Given the description of an element on the screen output the (x, y) to click on. 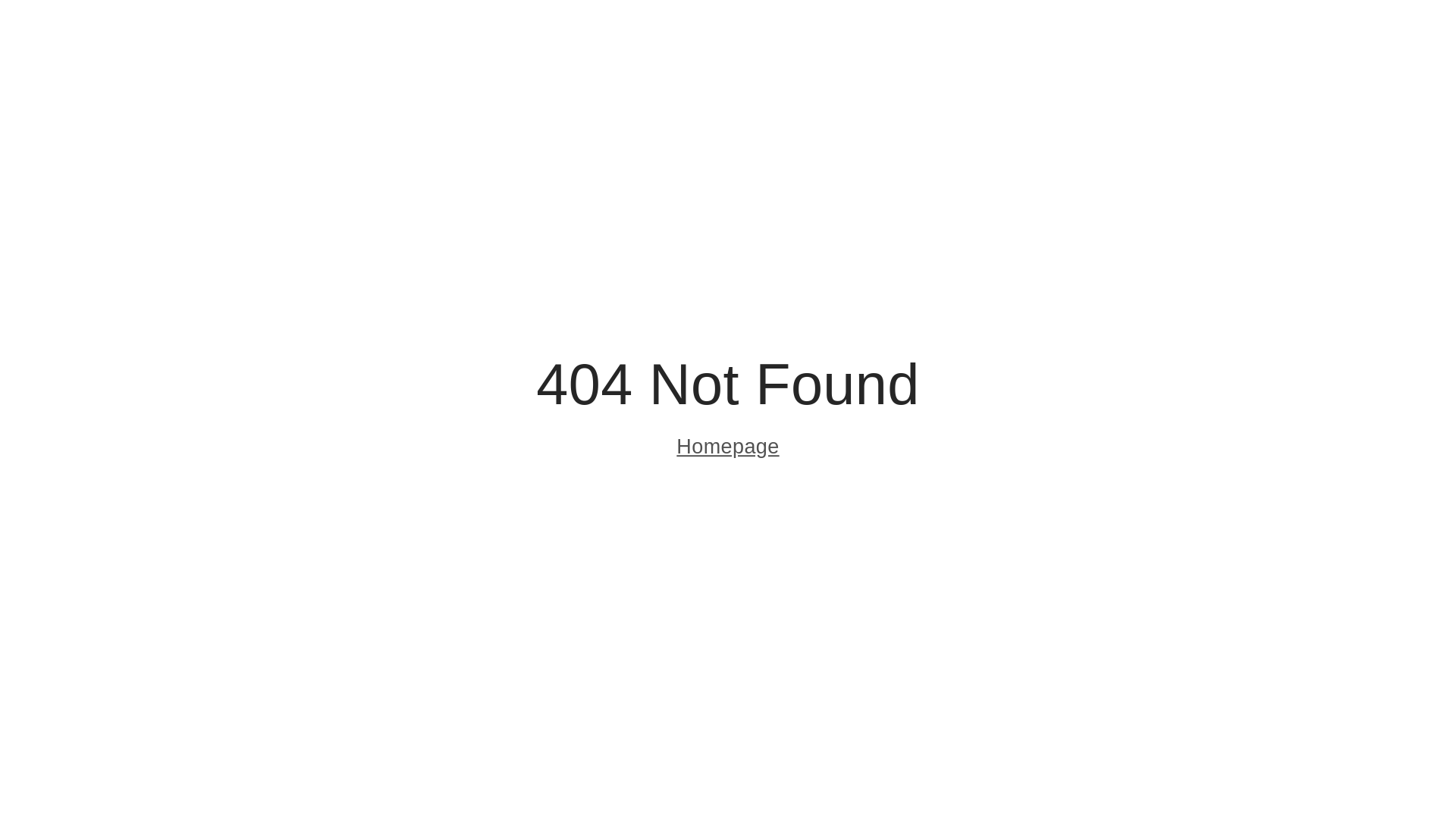
Homepage Element type: text (727, 448)
